Given the description of an element on the screen output the (x, y) to click on. 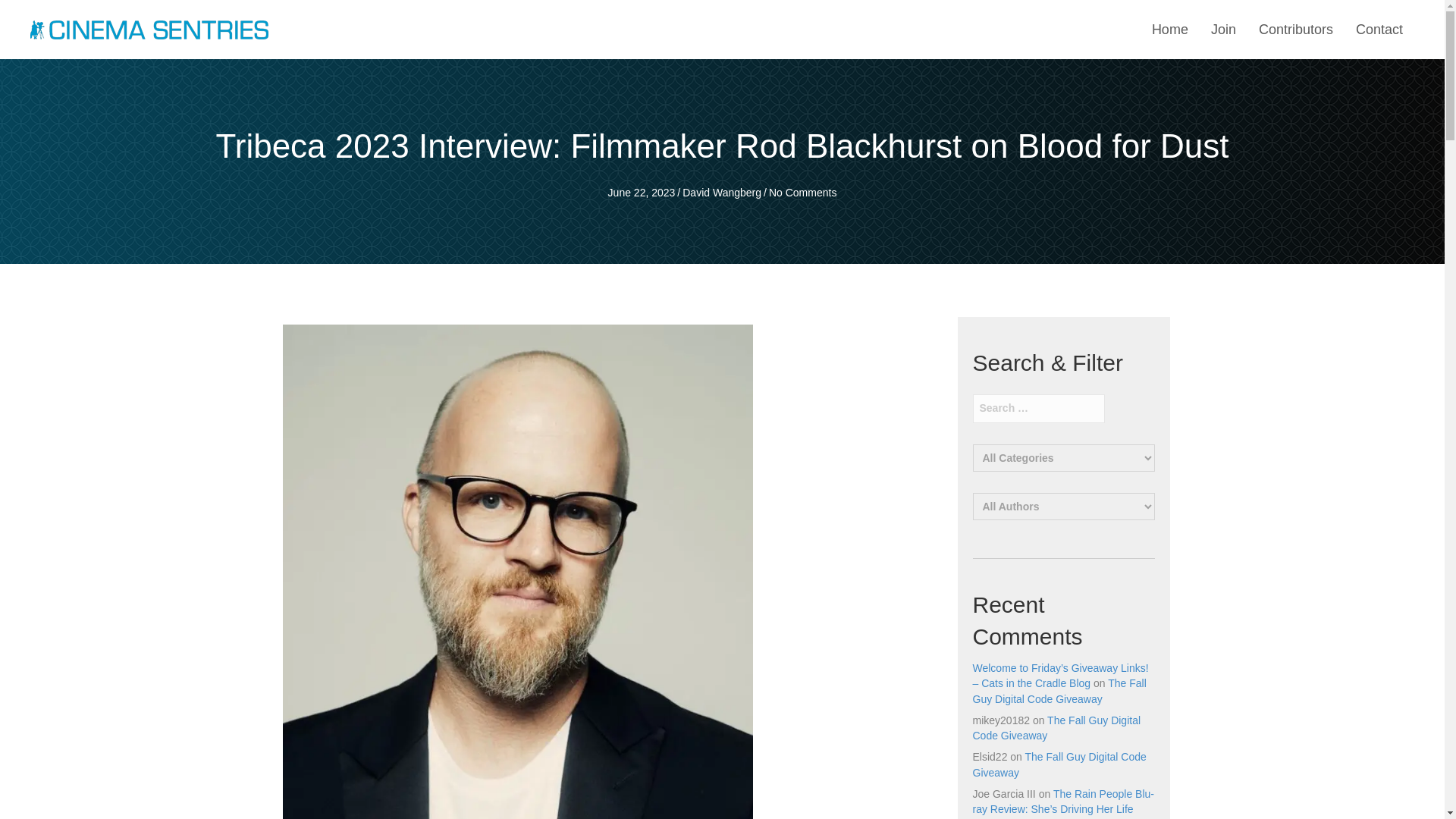
The Fall Guy Digital Code Giveaway (1056, 728)
Cinema Sentries (148, 28)
David Wangberg (721, 192)
No Comments (801, 192)
The Fall Guy Digital Code Giveaway (1058, 764)
Home (1169, 29)
Contact (1379, 29)
Join (1223, 29)
The Fall Guy Digital Code Giveaway (1058, 690)
Contributors (1295, 29)
